Given the description of an element on the screen output the (x, y) to click on. 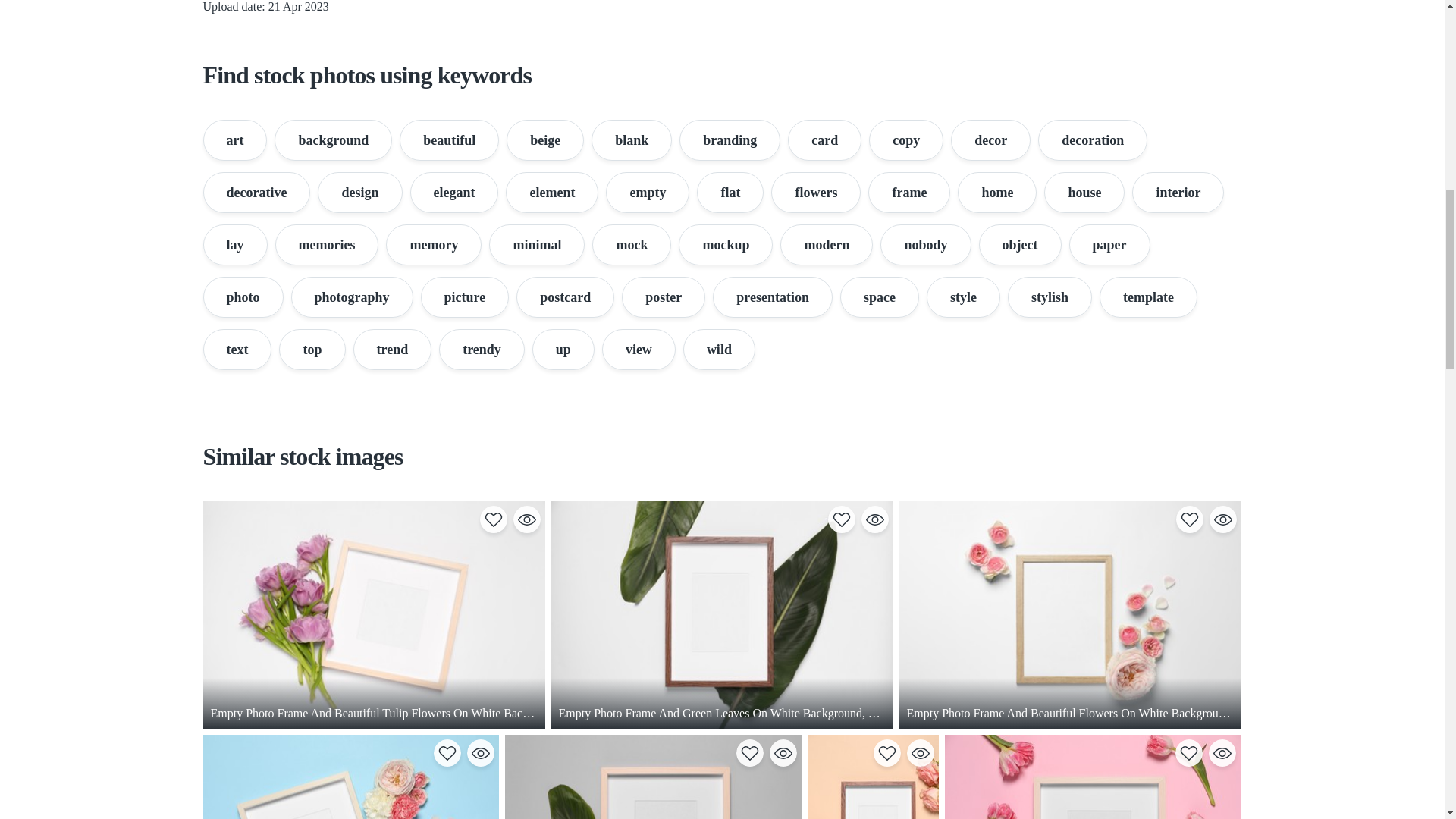
flat (729, 191)
decorative (257, 191)
empty (646, 191)
beige (544, 139)
beautiful (448, 139)
art (235, 139)
